Given the description of an element on the screen output the (x, y) to click on. 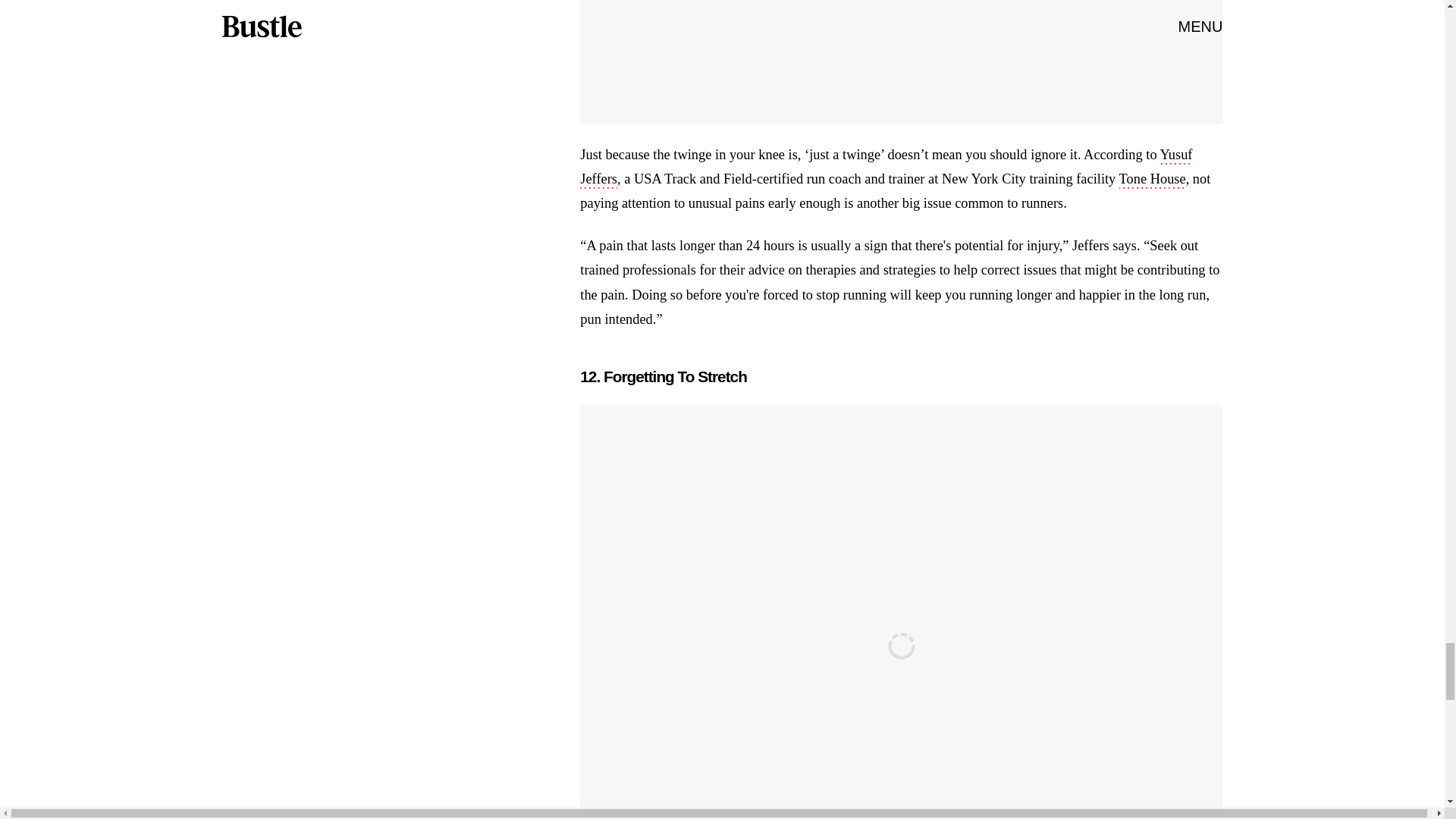
Tone House (1152, 180)
Yusuf Jeffers (885, 168)
